Given the description of an element on the screen output the (x, y) to click on. 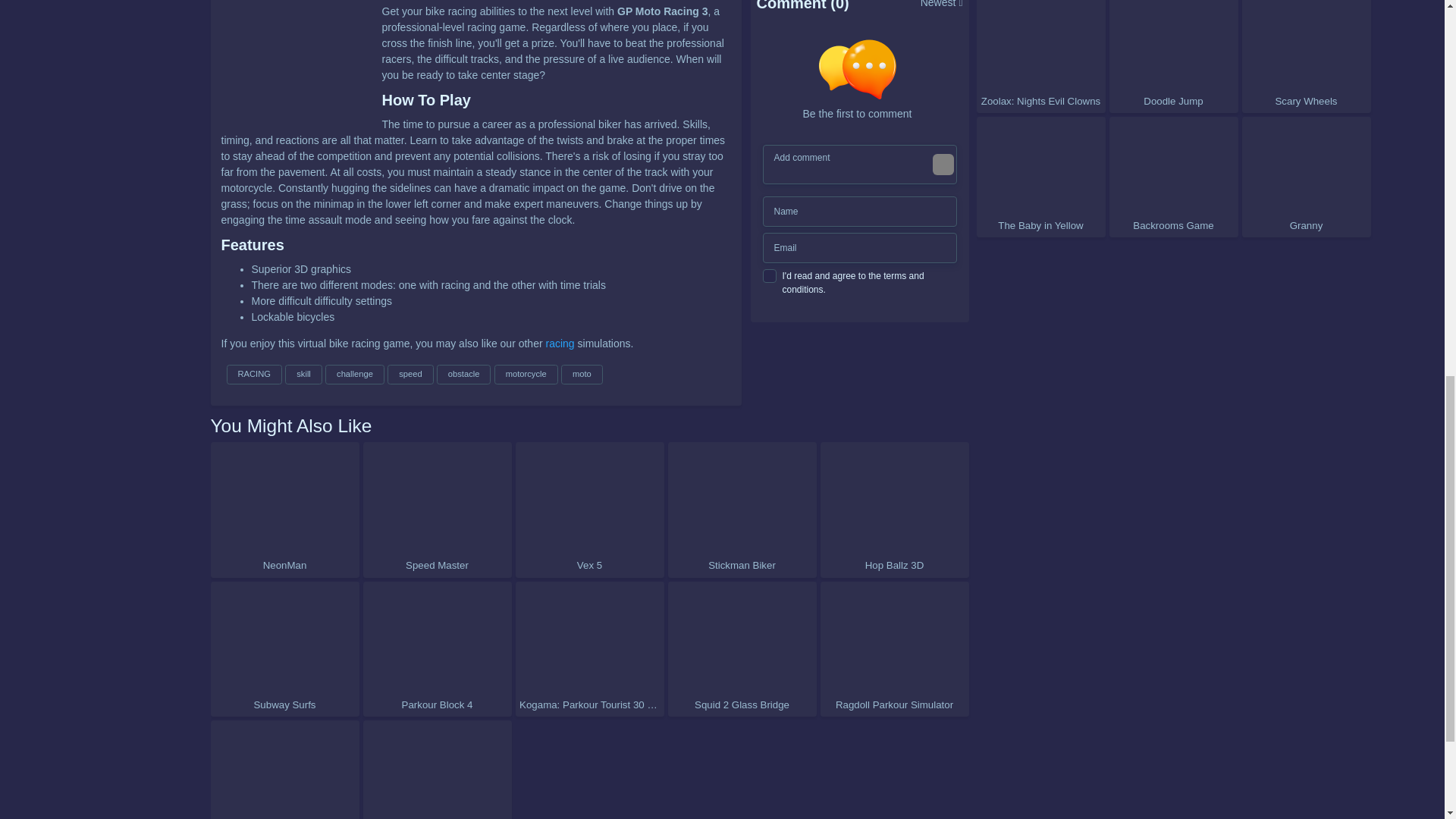
Be the first to comment (862, 80)
